Given the description of an element on the screen output the (x, y) to click on. 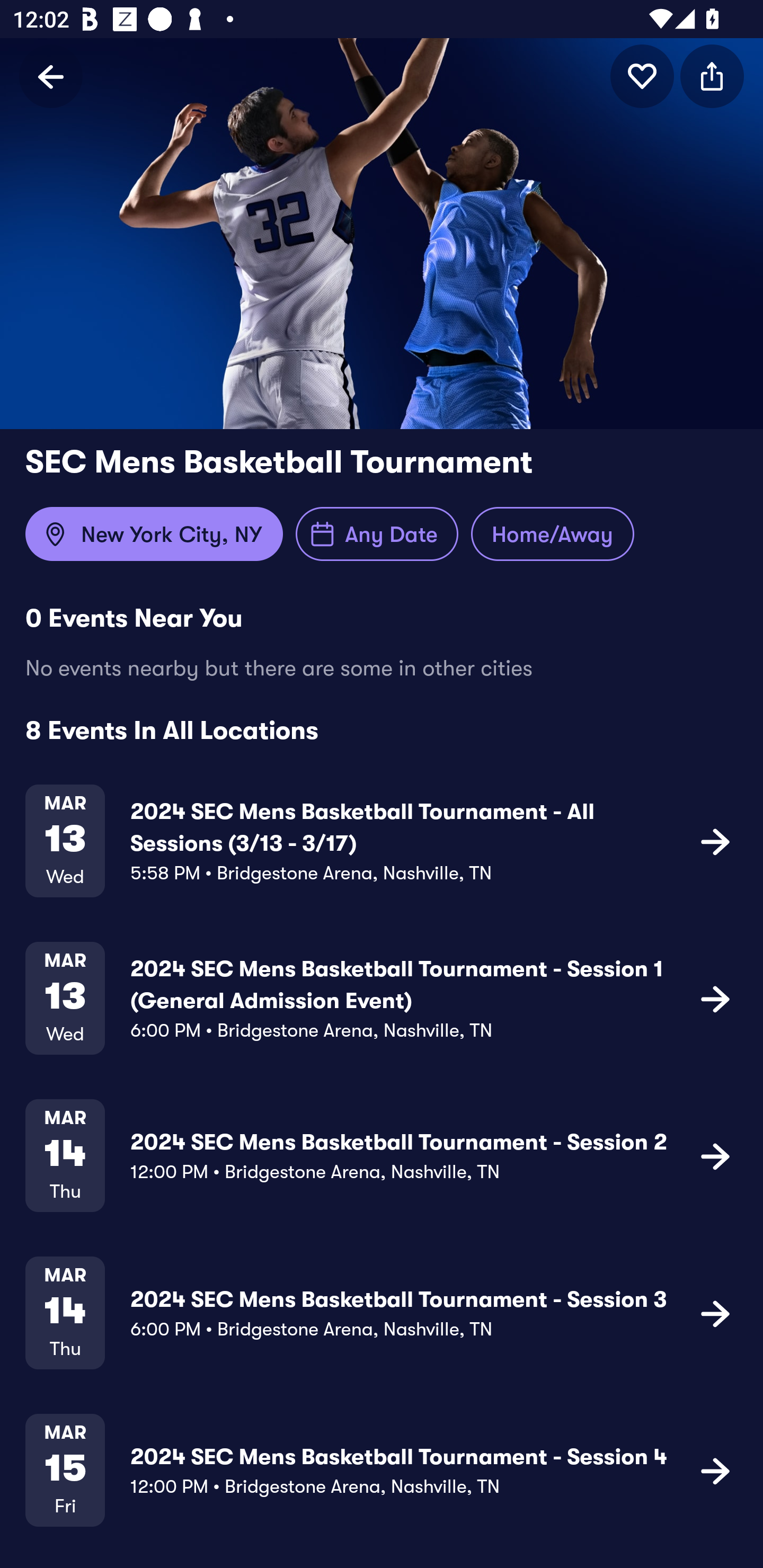
Back (50, 75)
icon button (641, 75)
icon button (711, 75)
New York City, NY (153, 533)
Any Date (377, 533)
Home/Away (552, 533)
icon button (714, 840)
icon button (714, 998)
icon button (714, 1155)
icon button (714, 1312)
icon button (714, 1470)
